Given the description of an element on the screen output the (x, y) to click on. 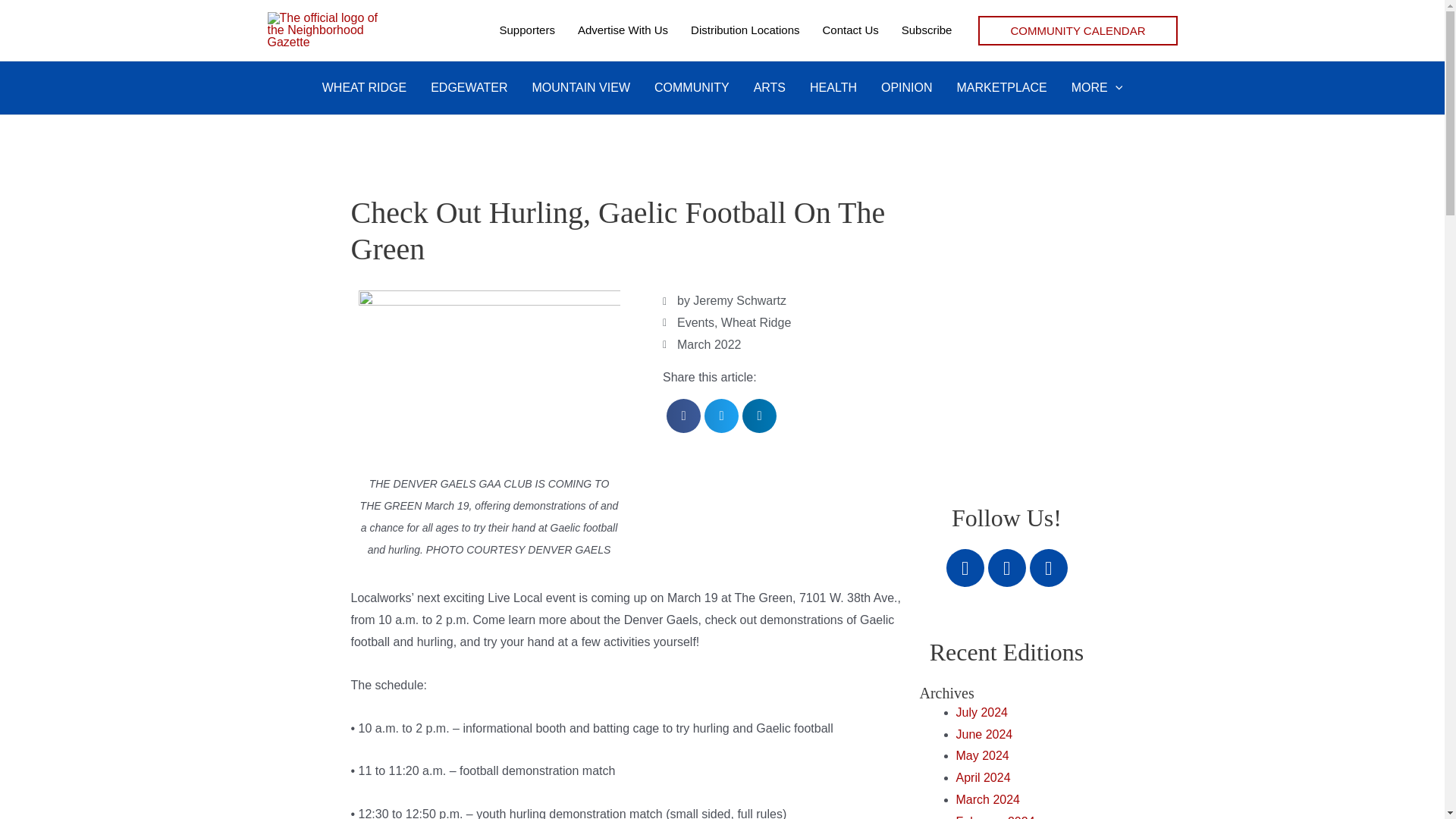
OPINION (906, 87)
MORE (1097, 87)
Events (695, 322)
Distribution Locations (744, 30)
Wheat Ridge (756, 322)
by Jeremy Schwartz (724, 301)
MARKETPLACE (1001, 87)
WHEAT RIDGE (364, 87)
HEALTH (833, 87)
COMMUNITY CALENDAR (1077, 30)
